Given the description of an element on the screen output the (x, y) to click on. 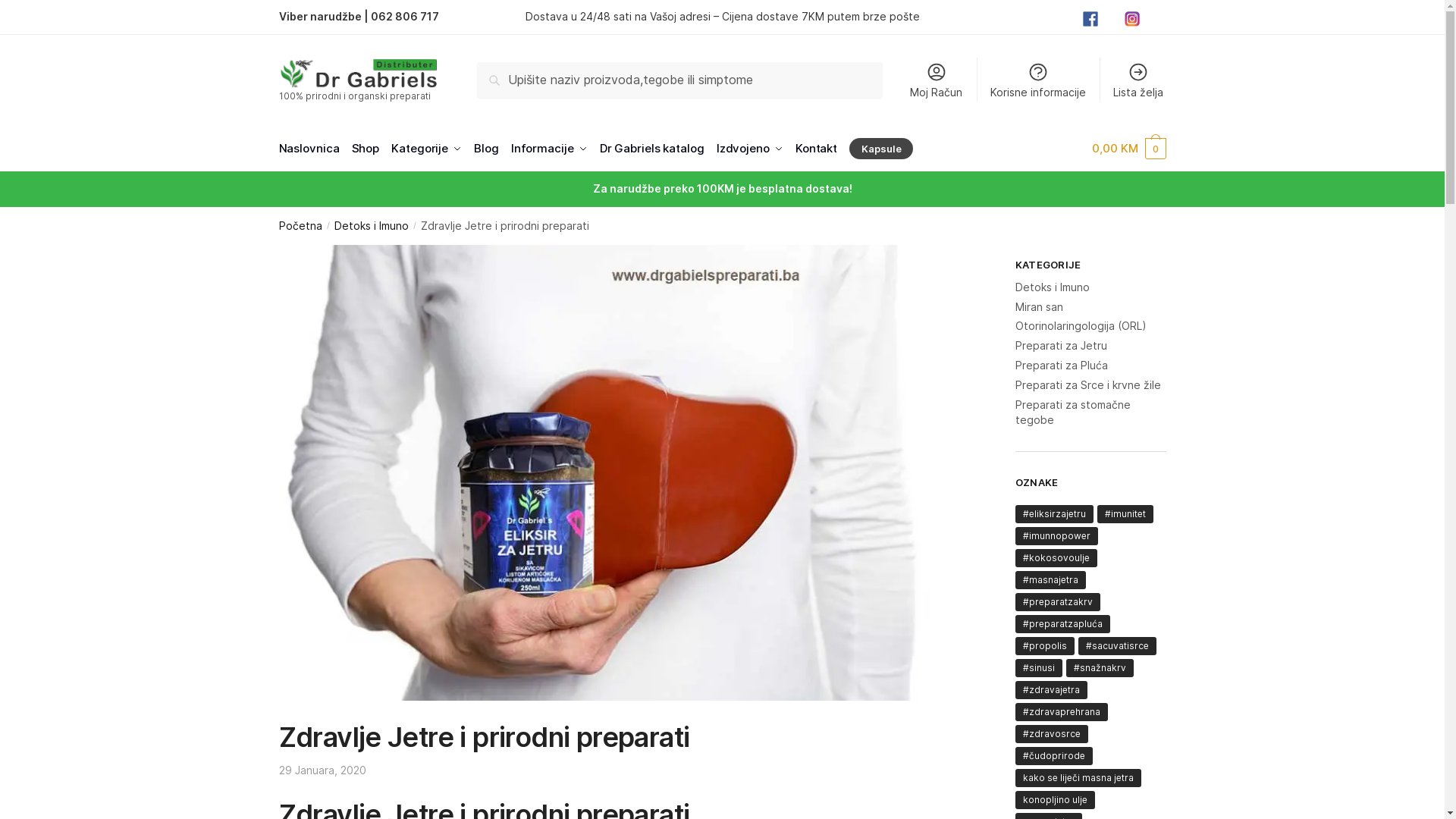
Dr Gabriels katalog Element type: text (651, 148)
#zdravaprehrana Element type: text (1061, 711)
#propolis Element type: text (1044, 646)
#sacuvatisrce Element type: text (1117, 646)
062 806 717 Element type: text (404, 15)
Otorinolaringologija (ORL) Element type: text (1080, 325)
Detoks i Imuno Element type: text (1052, 286)
Kapsule Element type: text (881, 148)
Kontakt Element type: text (815, 148)
Naslovnica Element type: text (312, 148)
Kategorije Element type: text (426, 148)
Korisne informacije Element type: text (1038, 79)
#eliksirzajetru Element type: text (1054, 514)
Preparati za Jetru Element type: text (1061, 344)
konopljino ulje Element type: text (1055, 799)
Miran san Element type: text (1039, 306)
#kokosovoulje Element type: text (1056, 558)
Detoks i Imuno Element type: text (371, 225)
#preparatzakrv Element type: text (1057, 602)
Informacije Element type: text (549, 148)
Blog Element type: text (486, 148)
#sinusi Element type: text (1038, 667)
Izdvojeno Element type: text (749, 148)
#zdravajetra Element type: text (1051, 689)
#masnajetra Element type: text (1050, 580)
#imunitet Element type: text (1125, 514)
Shop Element type: text (365, 148)
0,00 KM 0 Element type: text (1127, 148)
#zdravosrce Element type: text (1051, 733)
#imunnopower Element type: text (1056, 536)
